Given the description of an element on the screen output the (x, y) to click on. 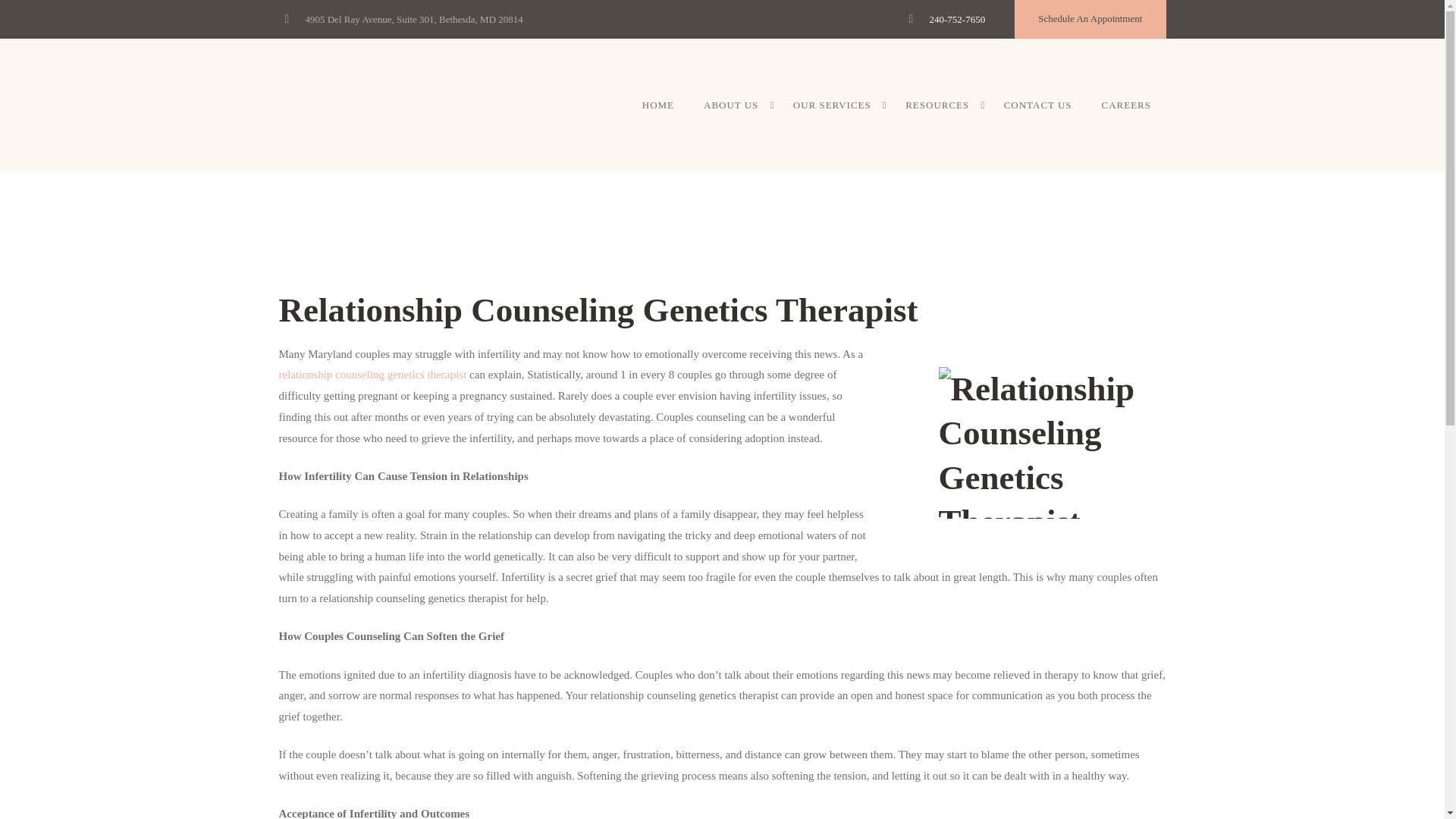
HOME (657, 105)
ABOUT US (733, 105)
RESOURCES (940, 105)
240-752-7650 (957, 19)
Schedule An Appointment (1089, 19)
OUR SERVICES (833, 105)
